Given the description of an element on the screen output the (x, y) to click on. 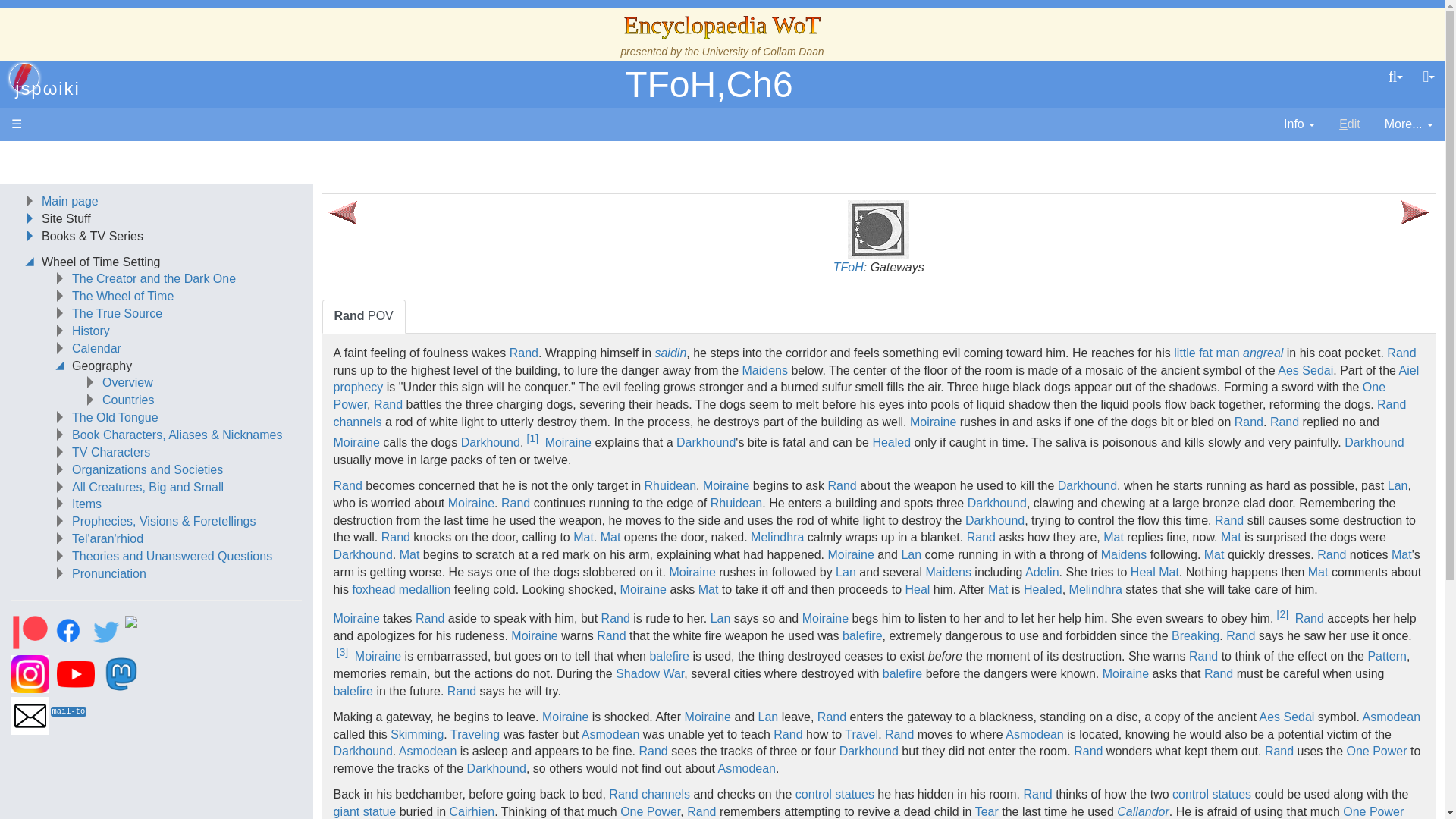
TFoH,Ch6 (708, 85)
Rand POV (363, 316)
saidin (669, 352)
Rand (1401, 352)
Edit (1349, 124)
little fat man (1206, 352)
Aes Sedai (1305, 369)
Rand (388, 404)
TFoH,Ch6 (708, 84)
Rand (1391, 404)
